Given the description of an element on the screen output the (x, y) to click on. 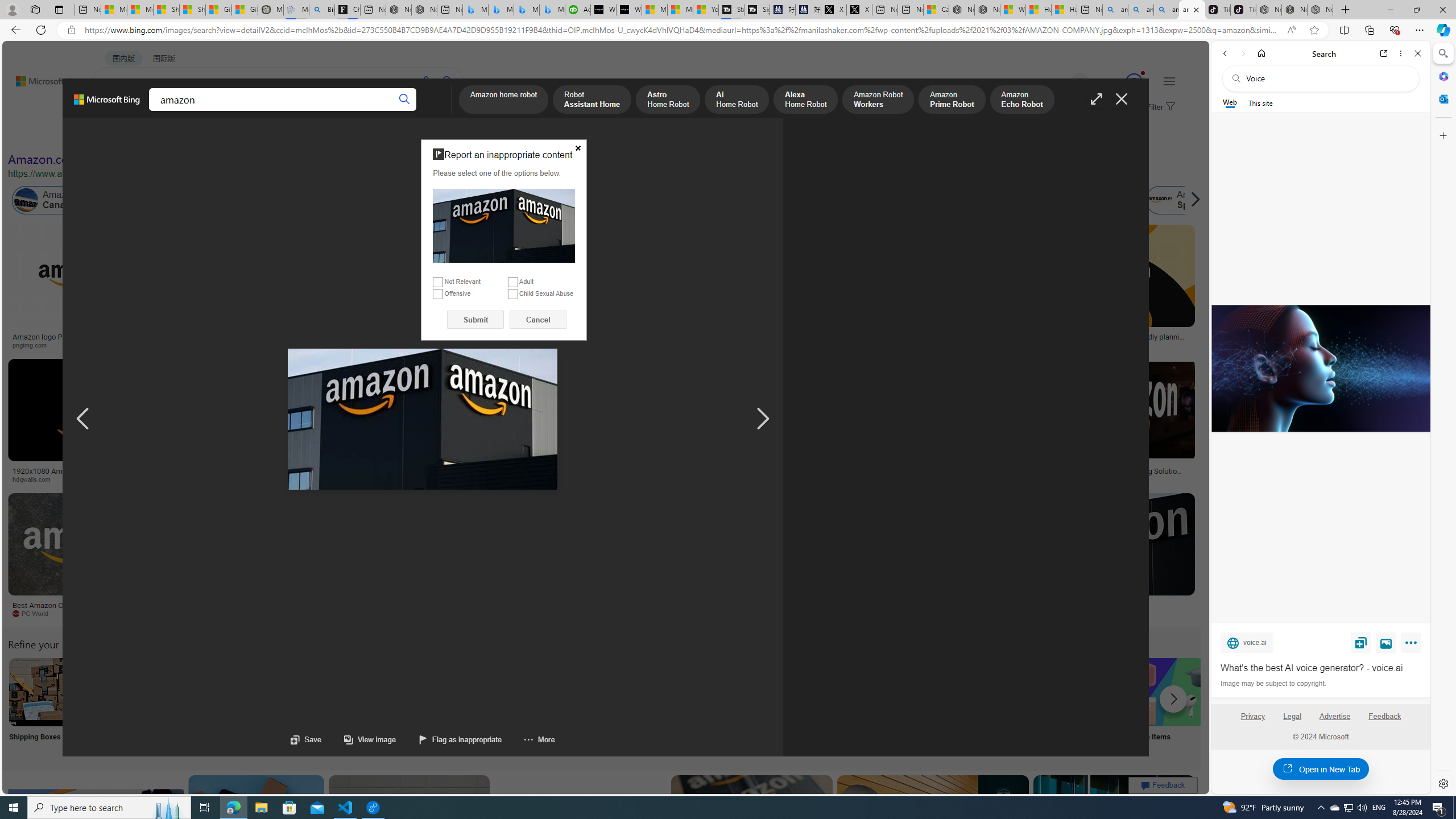
MORE (443, 111)
Amazon Mini TV Mini TV (794, 706)
